Given the description of an element on the screen output the (x, y) to click on. 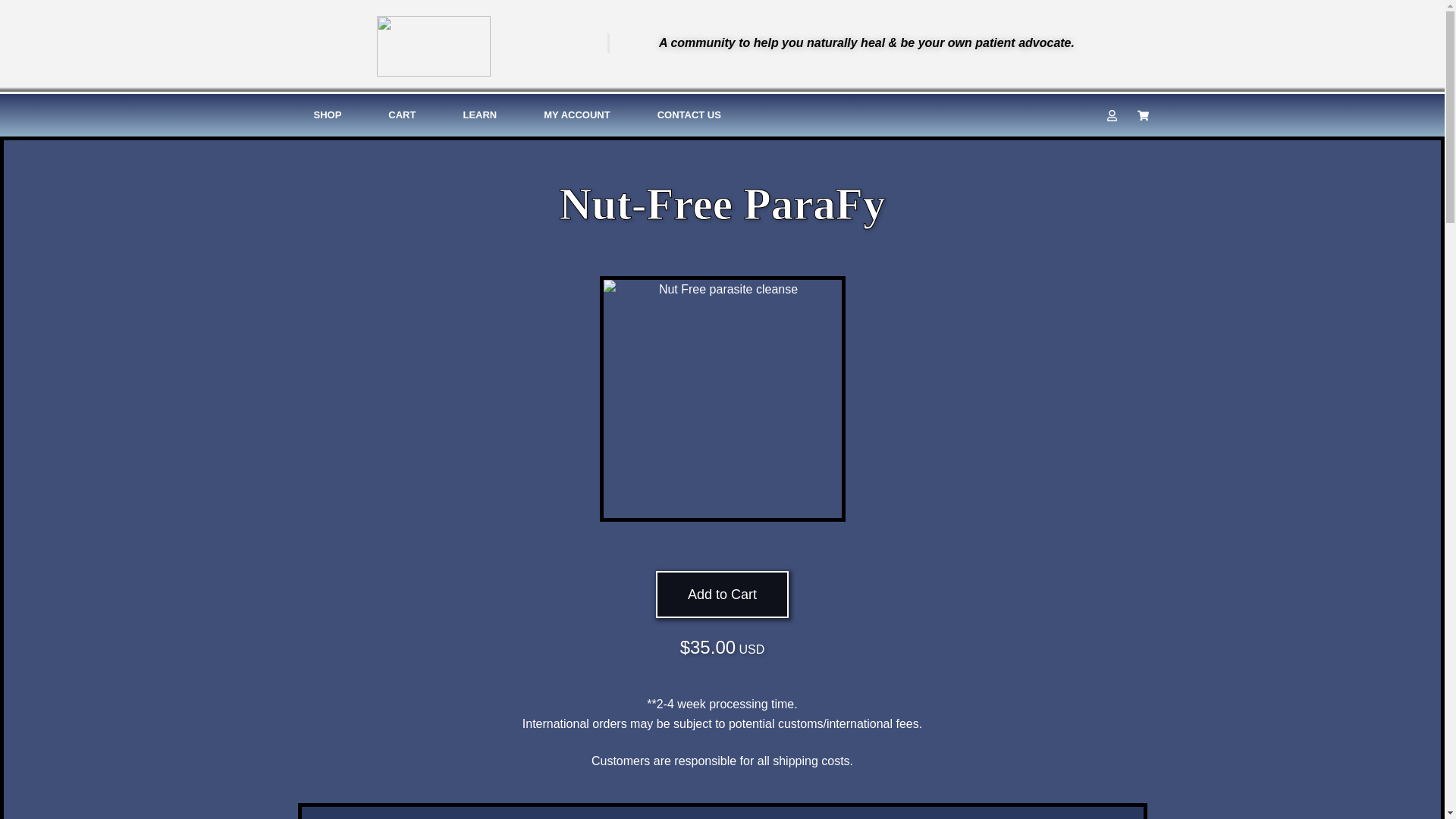
MY ACCOUNT (576, 115)
LEARN (479, 115)
CONTACT US (688, 115)
CART (402, 115)
SHOP (327, 115)
